Given the description of an element on the screen output the (x, y) to click on. 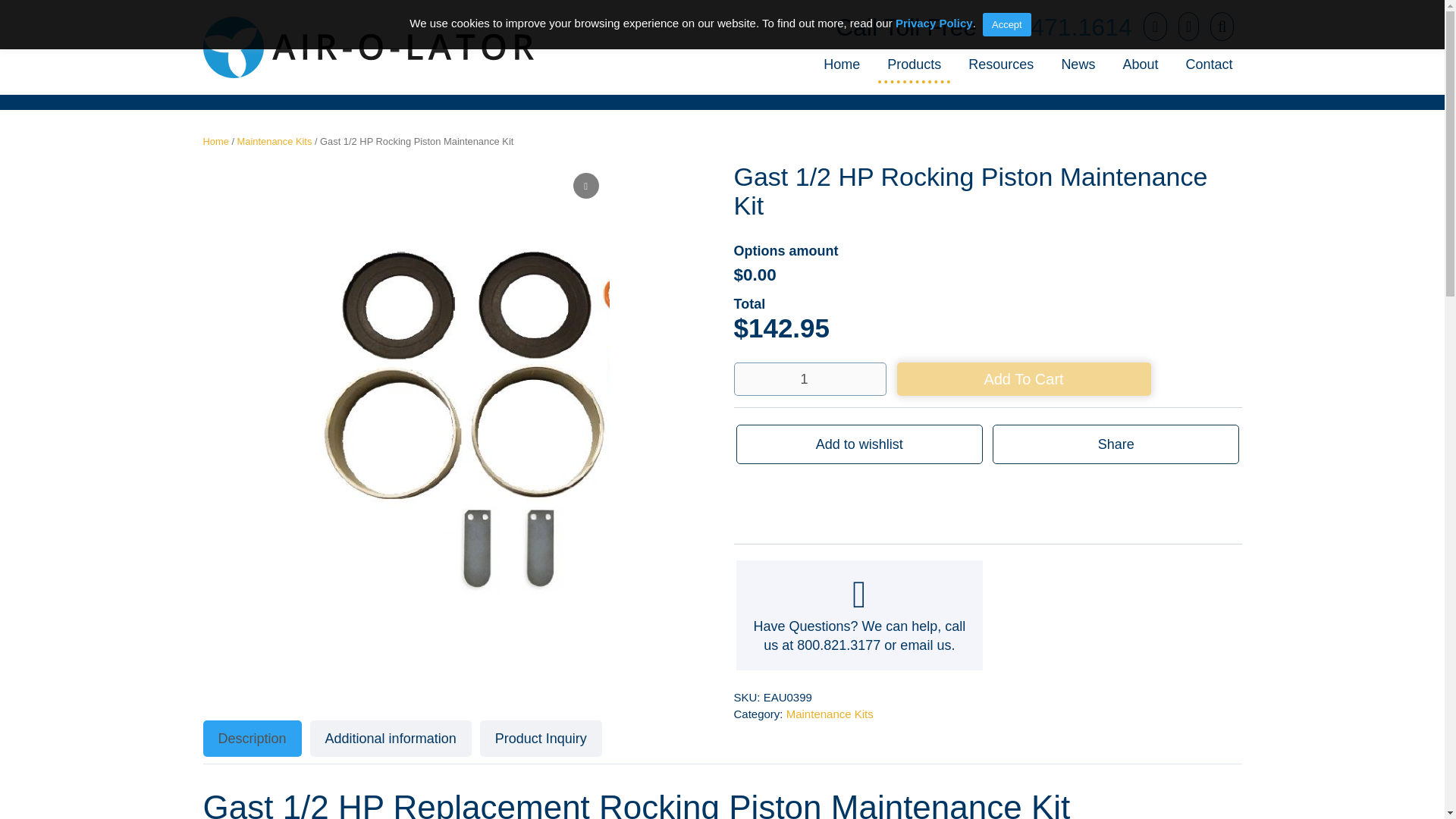
PayPal (987, 500)
1 (809, 378)
